Given the description of an element on the screen output the (x, y) to click on. 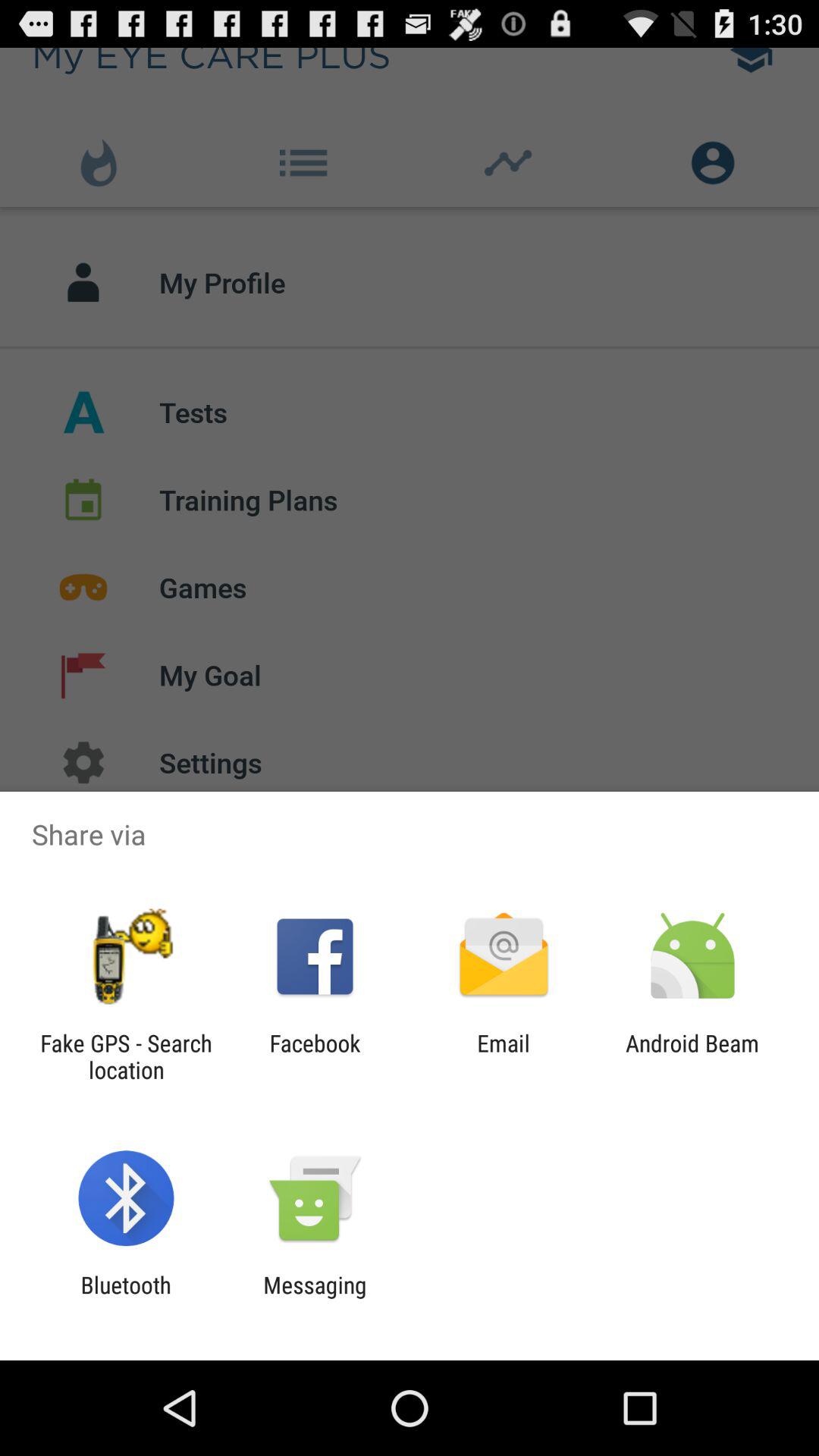
click the messaging app (314, 1298)
